Given the description of an element on the screen output the (x, y) to click on. 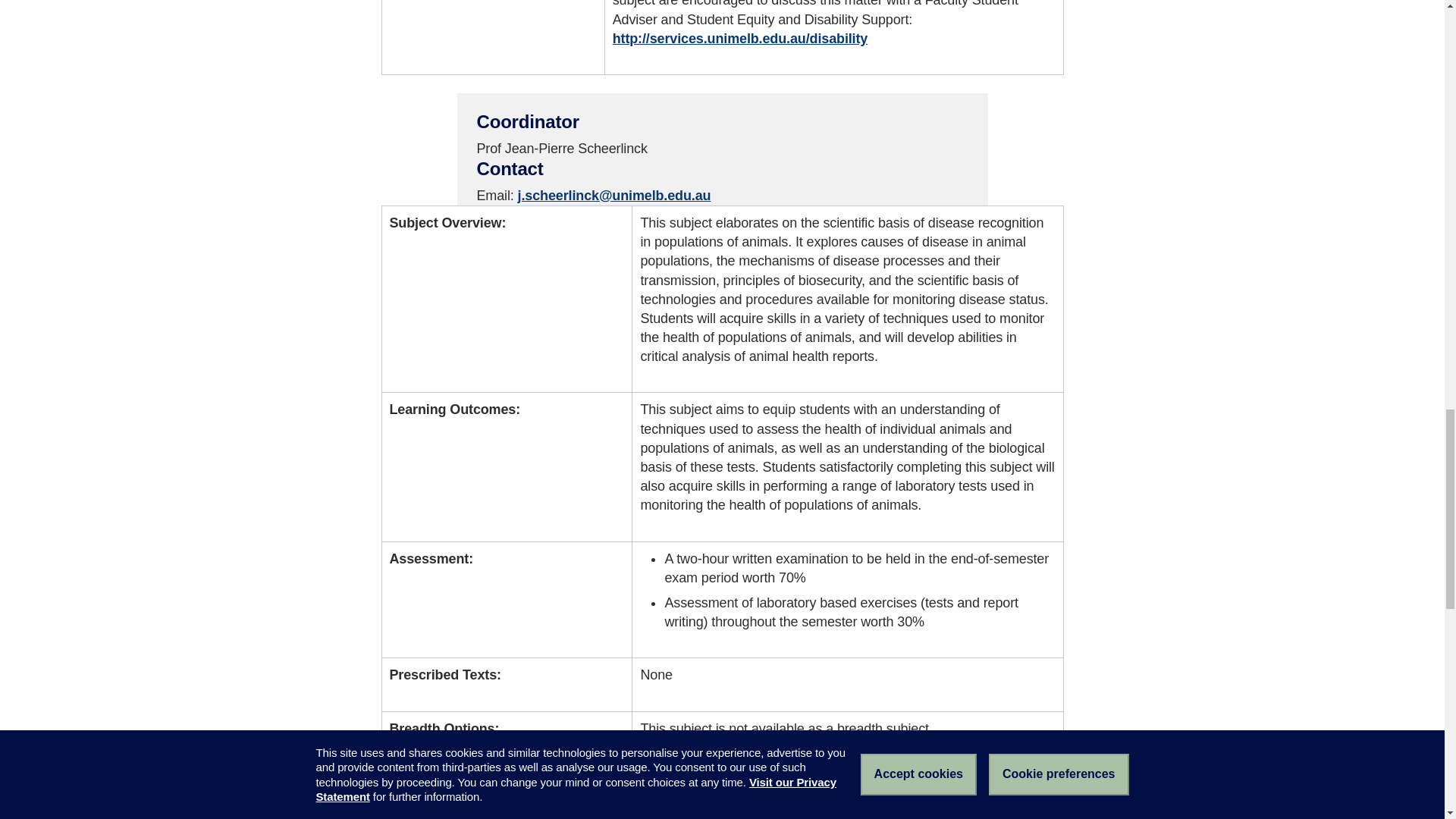
Master of Biotechnology (718, 814)
